Given the description of an element on the screen output the (x, y) to click on. 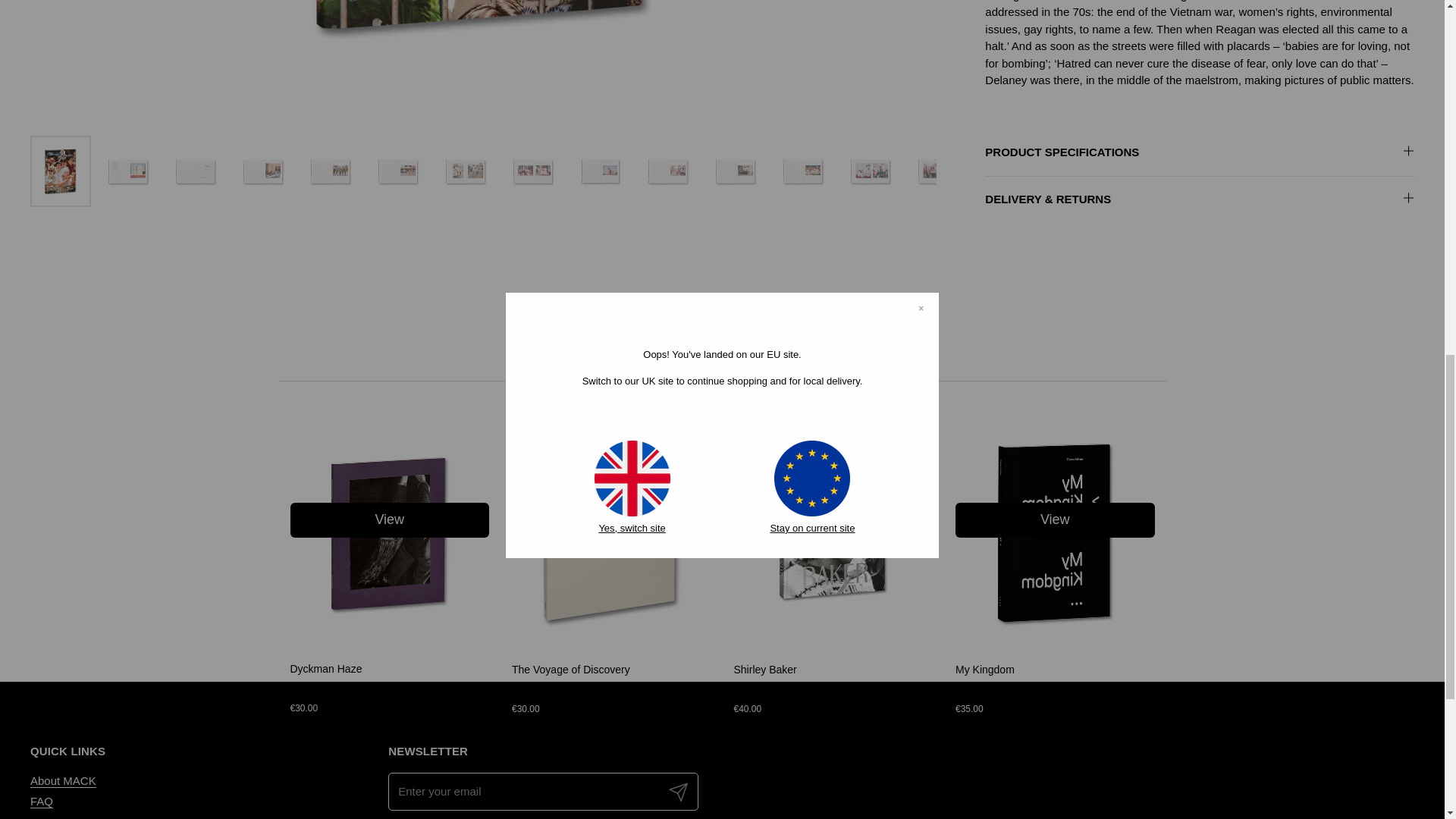
Shirley Baker (764, 669)
The Voyage of Discovery (571, 669)
Shirley Baker (833, 644)
Dyckman Haze (325, 668)
Dyckman Haze (389, 644)
The Voyage of Discovery (611, 644)
My Kingdom (984, 669)
My Kingdom (1054, 644)
